Given the description of an element on the screen output the (x, y) to click on. 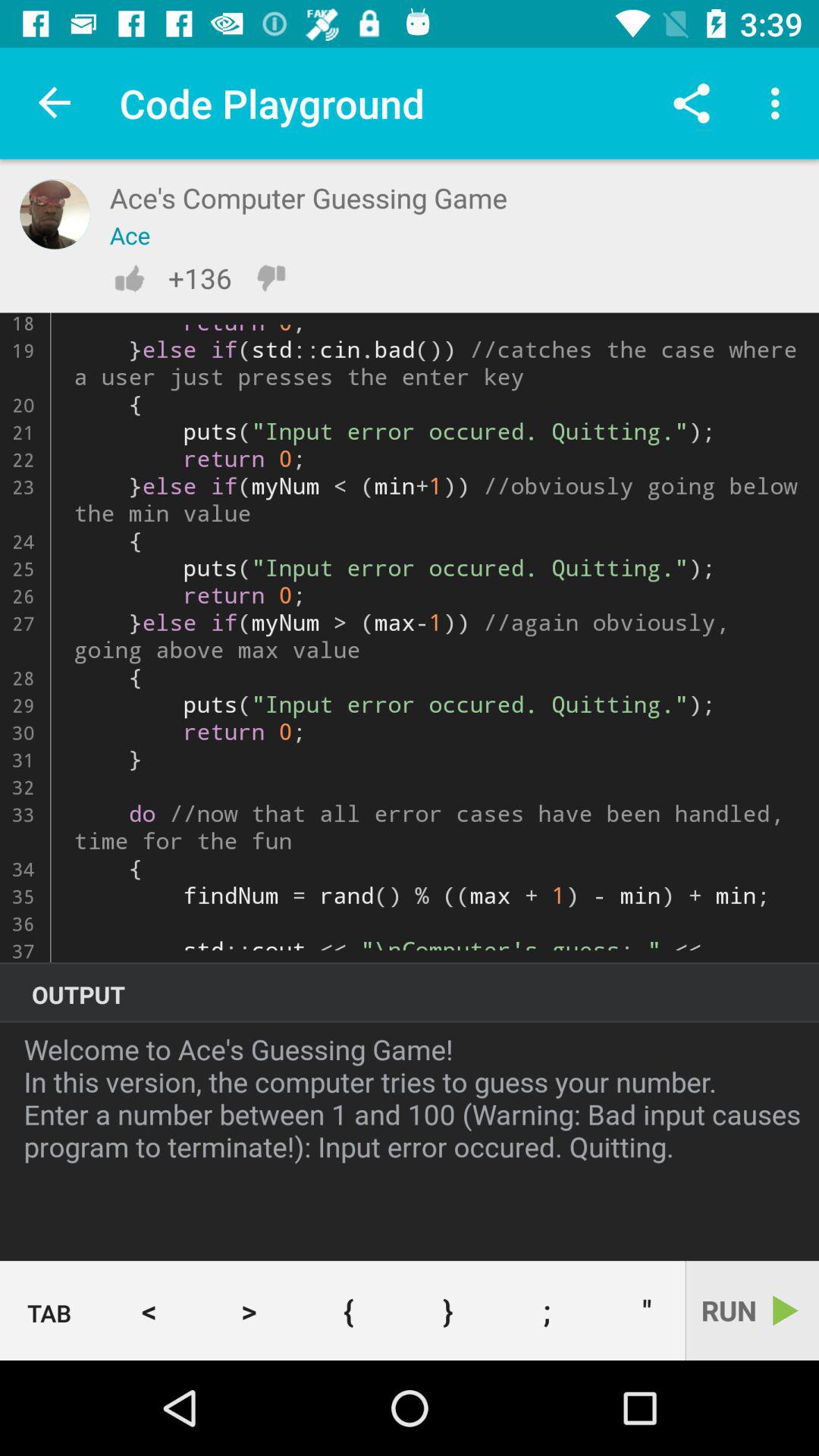
press the icon next to { (447, 1310)
